Given the description of an element on the screen output the (x, y) to click on. 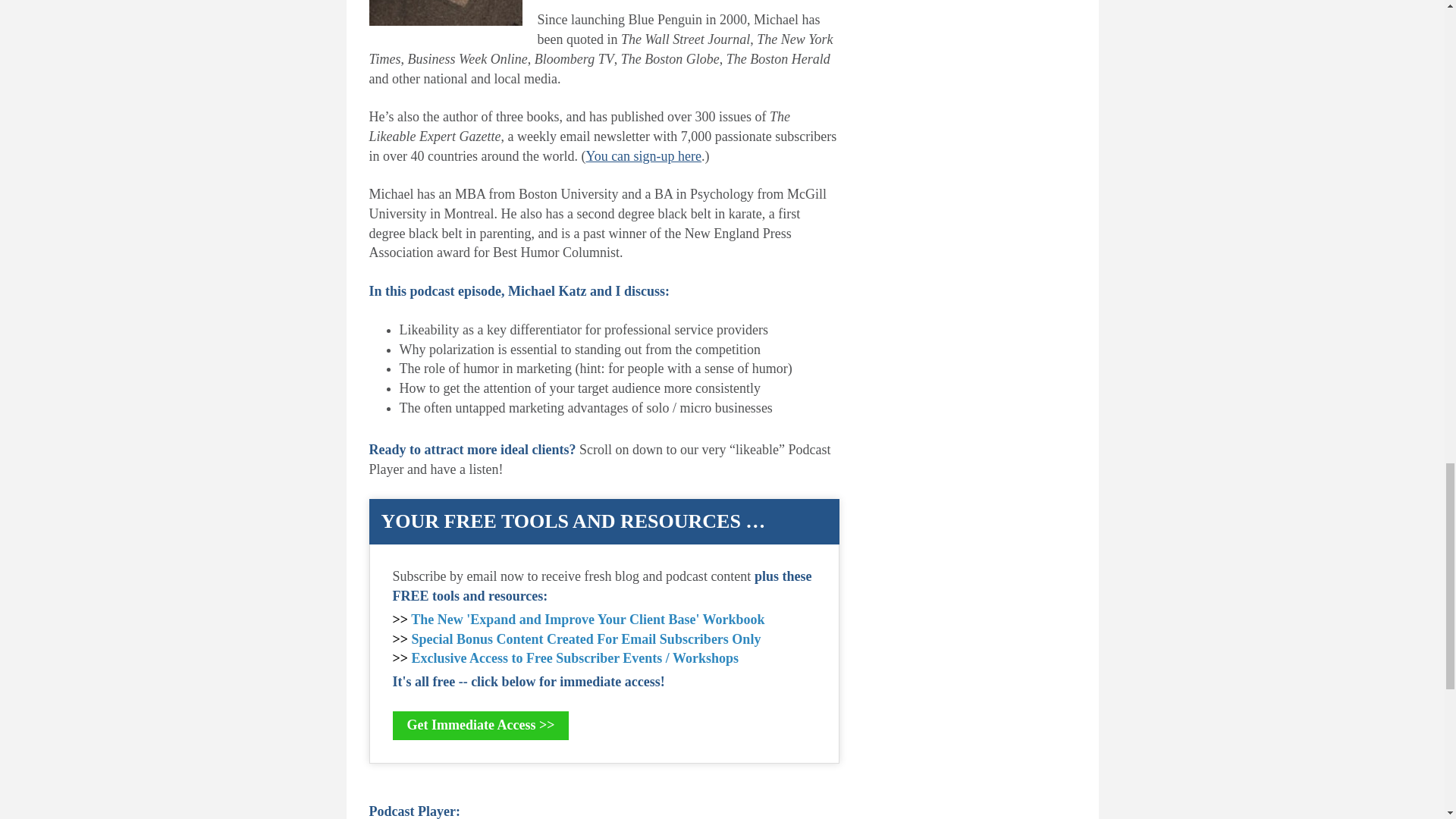
E-Newsletter Sign-up (643, 155)
